Given the description of an element on the screen output the (x, y) to click on. 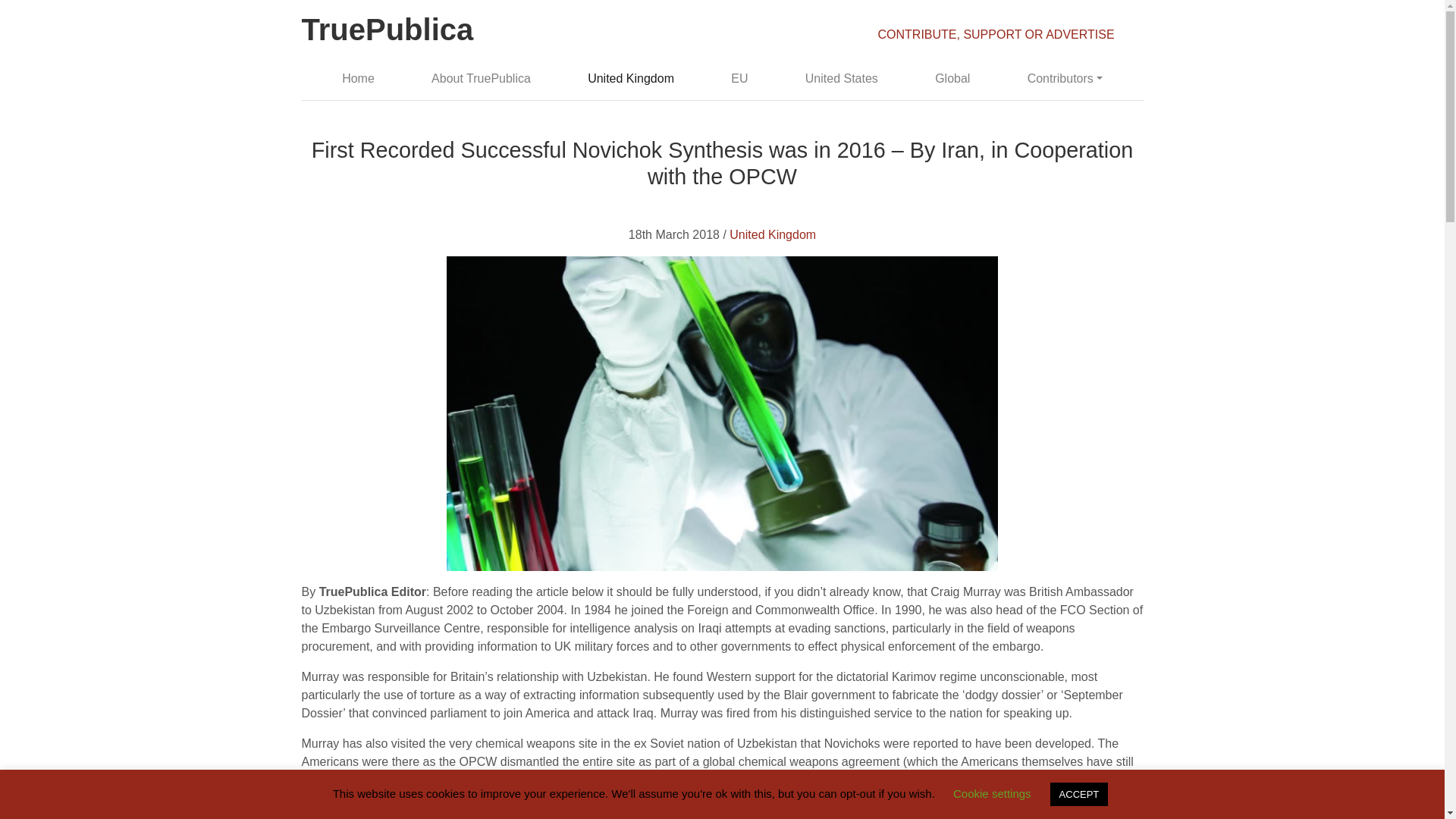
United Kingdom (772, 234)
United Kingdom (631, 78)
Global (951, 78)
CONTRIBUTE, SUPPORT OR ADVERTISE (996, 33)
About TruePublica (481, 78)
TruePublica (387, 32)
EU (740, 78)
United States (840, 78)
Contributors (1064, 78)
Home (358, 78)
